Given the description of an element on the screen output the (x, y) to click on. 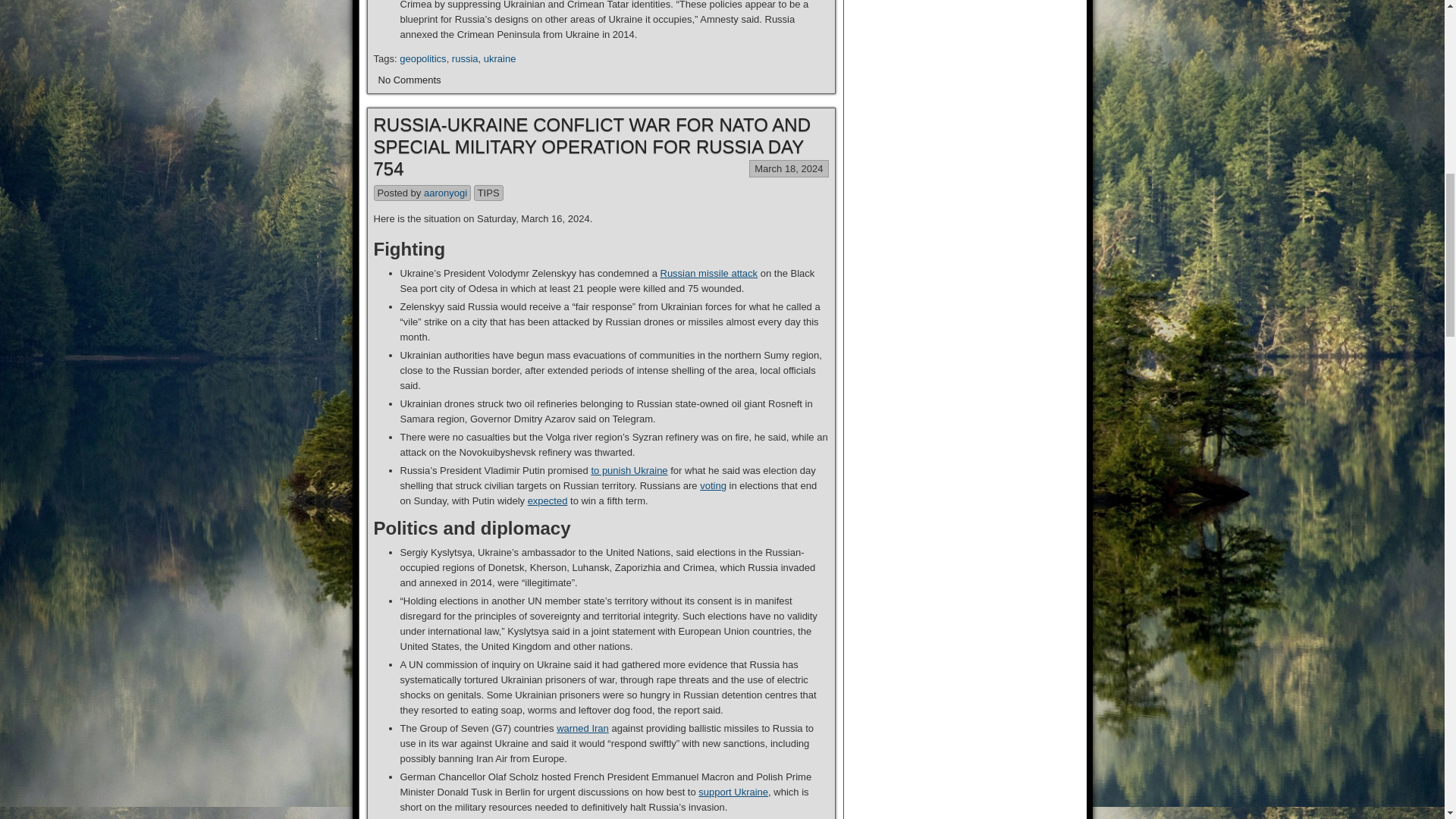
expected (547, 500)
March 18, 2024 (788, 168)
No Comments (408, 78)
TIPS (488, 193)
aaronyogi (445, 193)
warned Iran (582, 727)
Russian missile attack (708, 273)
support Ukraine (733, 791)
voting (713, 485)
to punish Ukraine (628, 470)
russia (465, 58)
geopolitics (421, 58)
ukraine (499, 58)
